Given the description of an element on the screen output the (x, y) to click on. 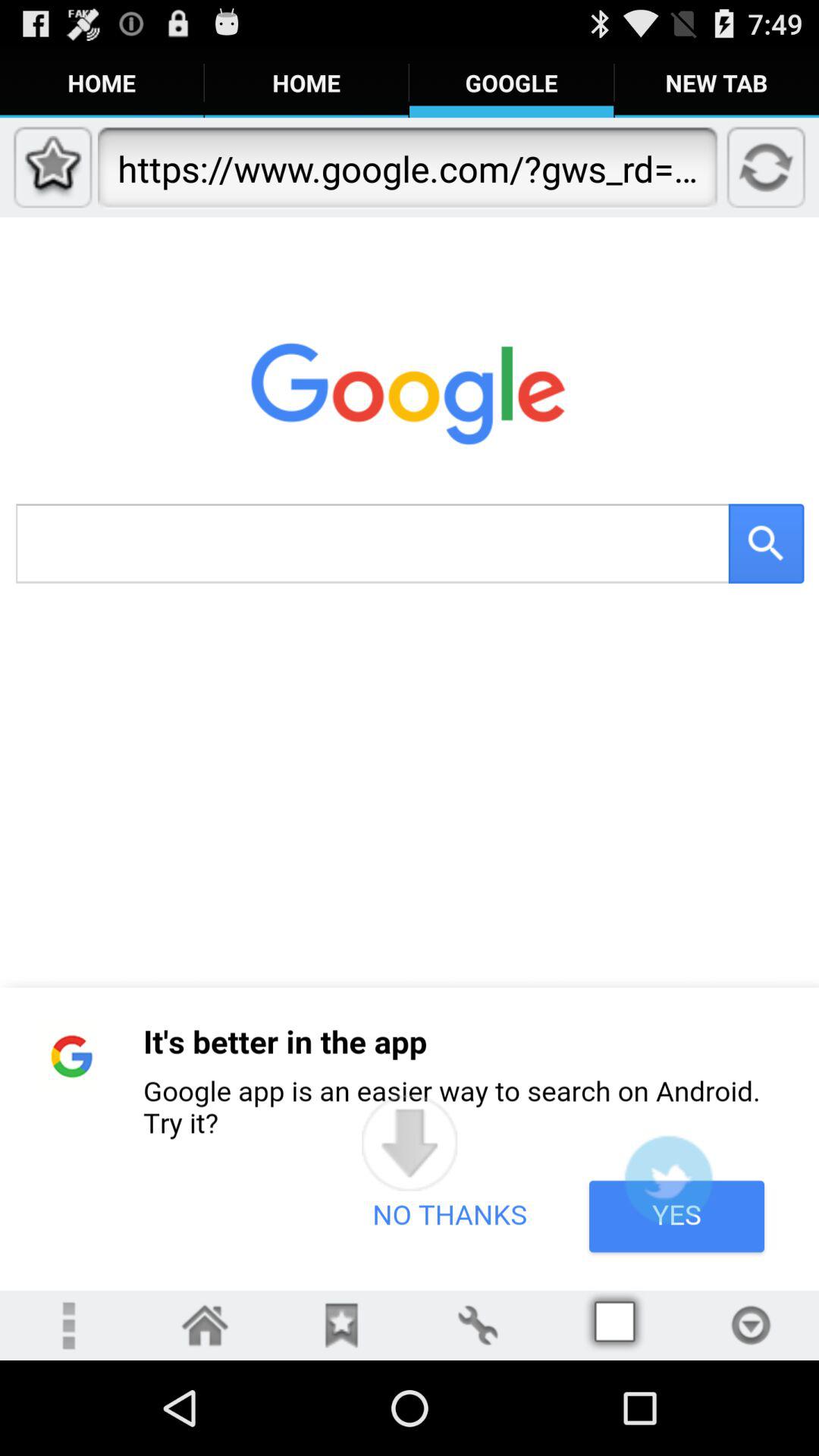
downloading (409, 1142)
